Given the description of an element on the screen output the (x, y) to click on. 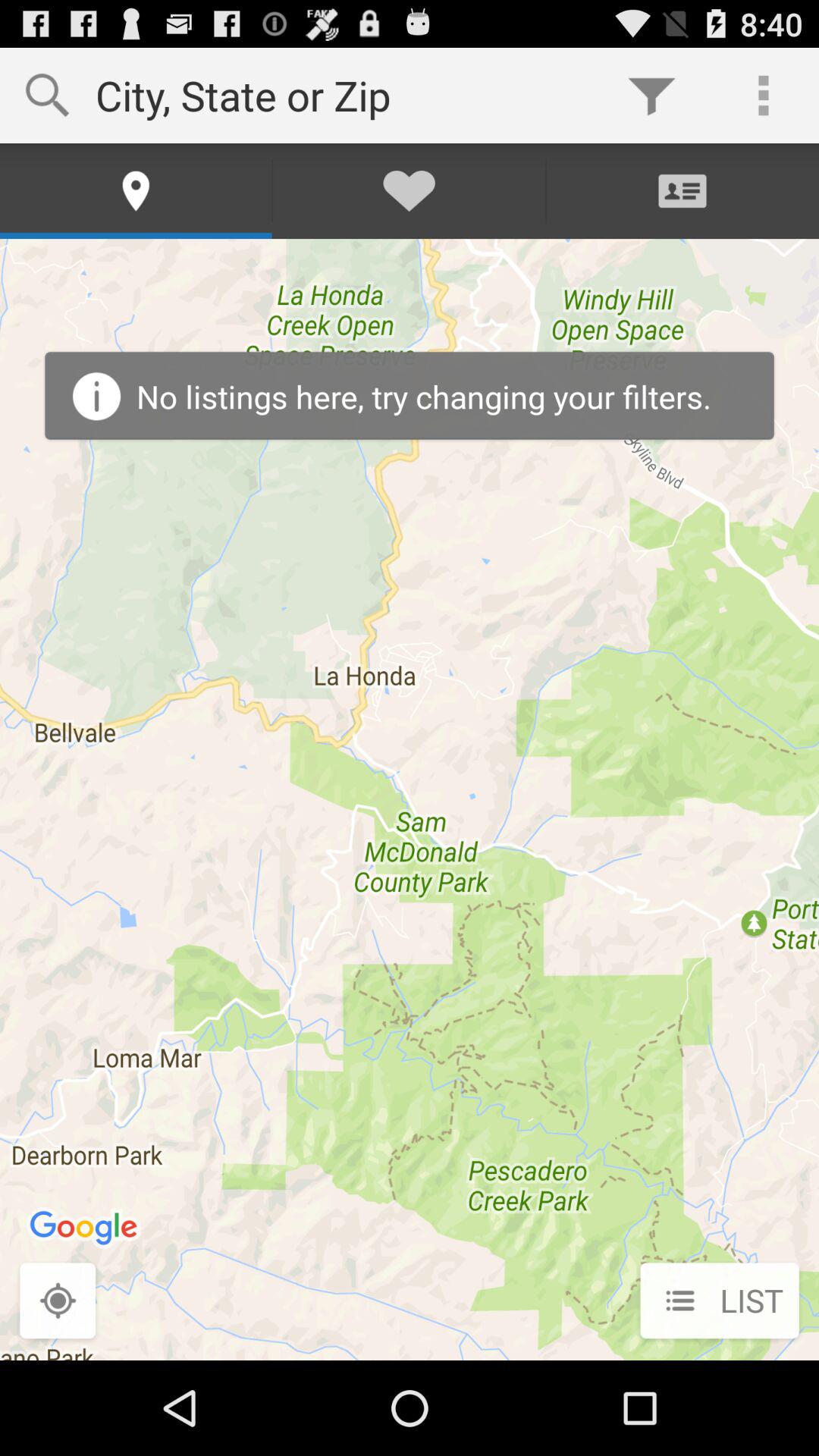
scroll until the list icon (719, 1302)
